Given the description of an element on the screen output the (x, y) to click on. 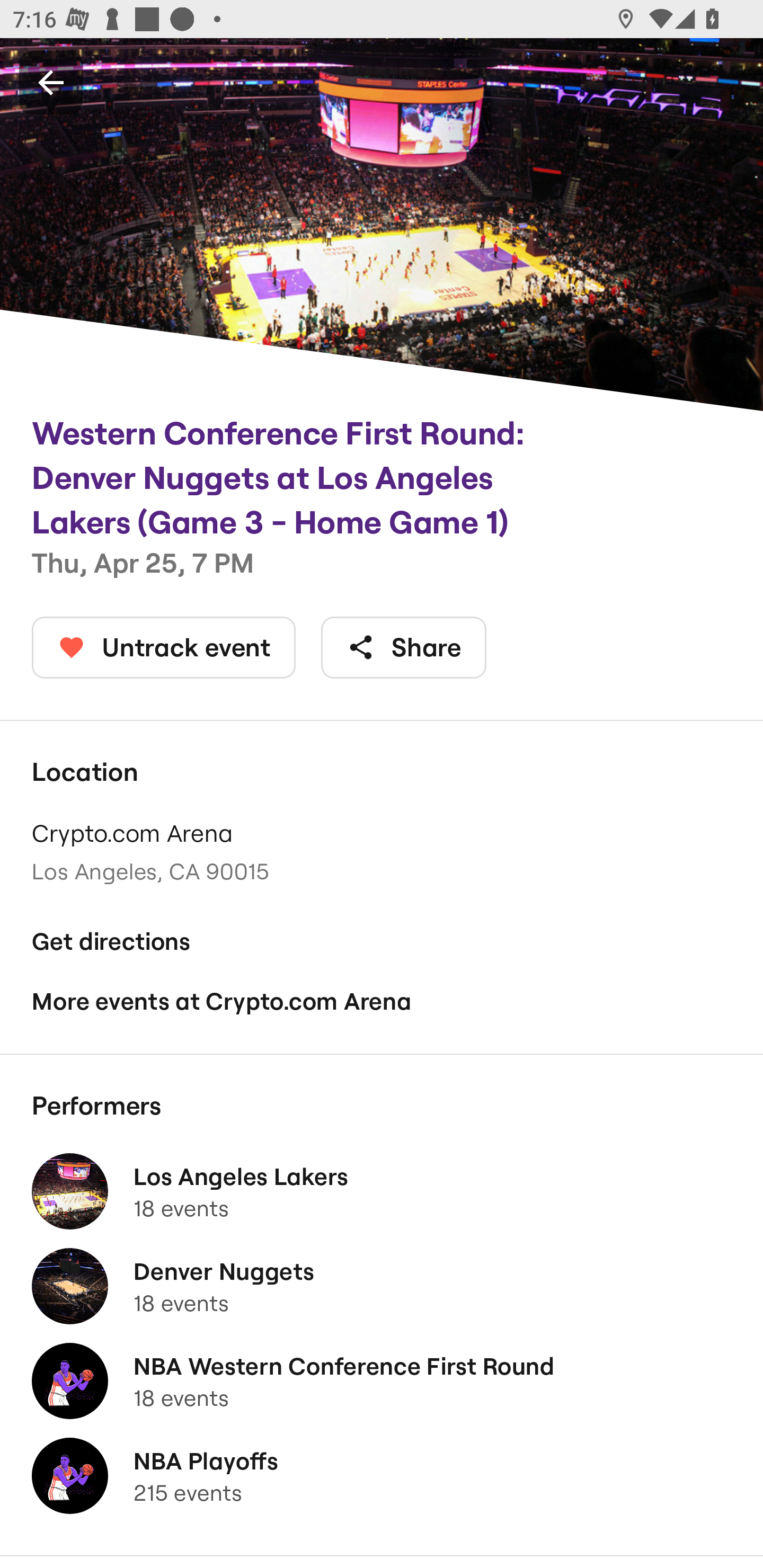
Back (50, 81)
Untrack event (164, 647)
Share (403, 647)
Get directions (381, 941)
More events at Crypto.com Arena (381, 1001)
Los Angeles Lakers 18 events (381, 1191)
Denver Nuggets 18 events (381, 1286)
NBA Western Conference First Round 18 events (381, 1381)
NBA Playoffs 215 events (381, 1476)
